Given the description of an element on the screen output the (x, y) to click on. 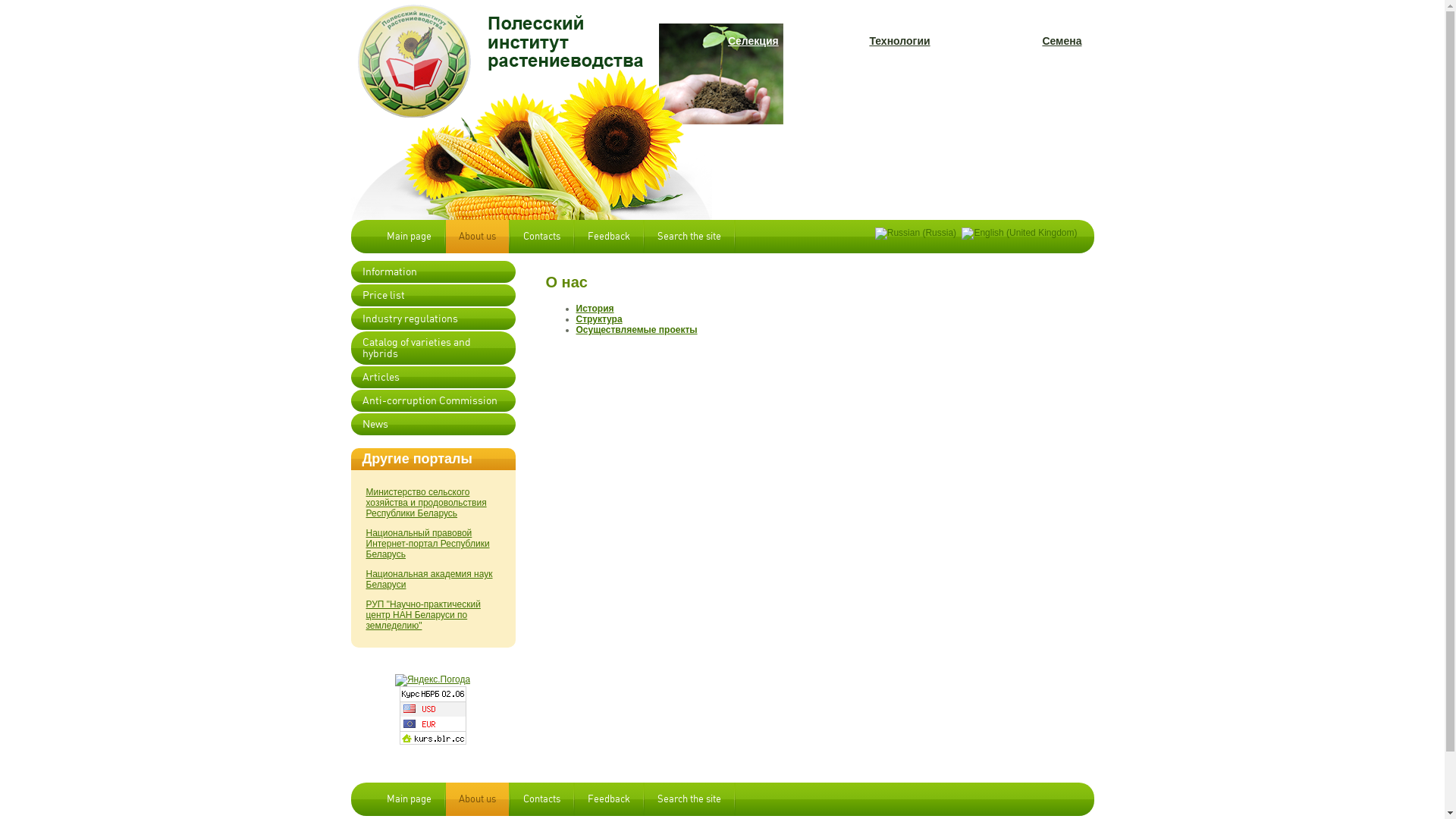
Contacts Element type: text (540, 798)
About us Element type: text (476, 236)
Articles Element type: text (432, 377)
Industry regulations Element type: text (432, 318)
Anti-corruption Commission Element type: text (432, 400)
Catalog of varieties and hybrids Element type: text (432, 347)
Search the site Element type: text (689, 236)
Information Element type: text (432, 271)
Feedback Element type: text (608, 798)
Search the site Element type: text (689, 798)
Contacts Element type: text (540, 236)
Feedback Element type: text (608, 236)
Main page Element type: text (408, 236)
About us Element type: text (476, 798)
Russian (Russia) Element type: hover (915, 233)
Price list Element type: text (432, 295)
News Element type: text (432, 424)
Main page Element type: text (408, 798)
English (United Kingdom) Element type: hover (1018, 233)
